Given the description of an element on the screen output the (x, y) to click on. 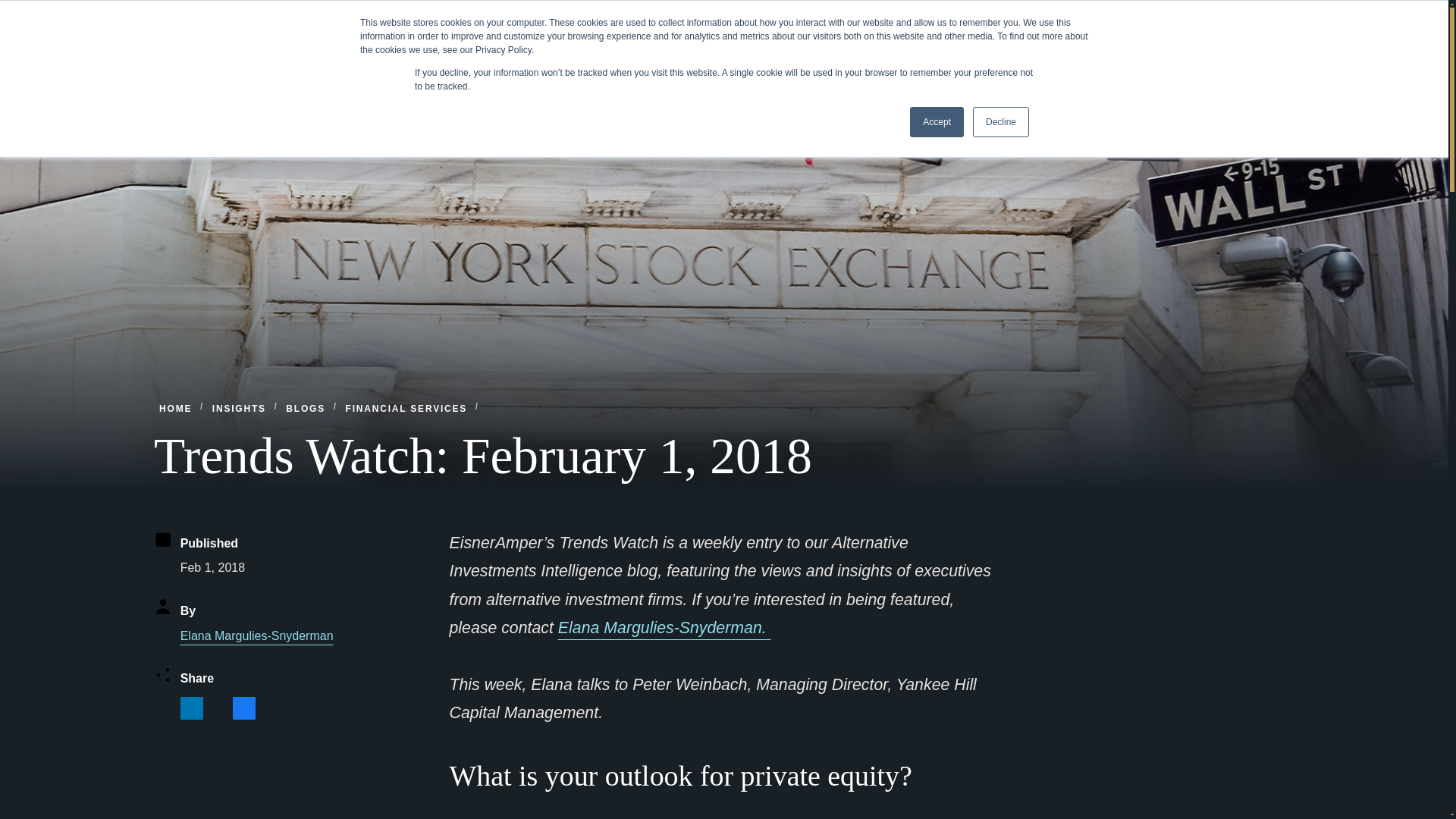
Decline (1000, 122)
Accept (936, 122)
Services (756, 67)
EisnerAmper Home (256, 67)
Search (1259, 17)
Client Resources (1175, 17)
Careers (1100, 17)
Skip to content (12, 6)
Contact Us (1039, 17)
